Given the description of an element on the screen output the (x, y) to click on. 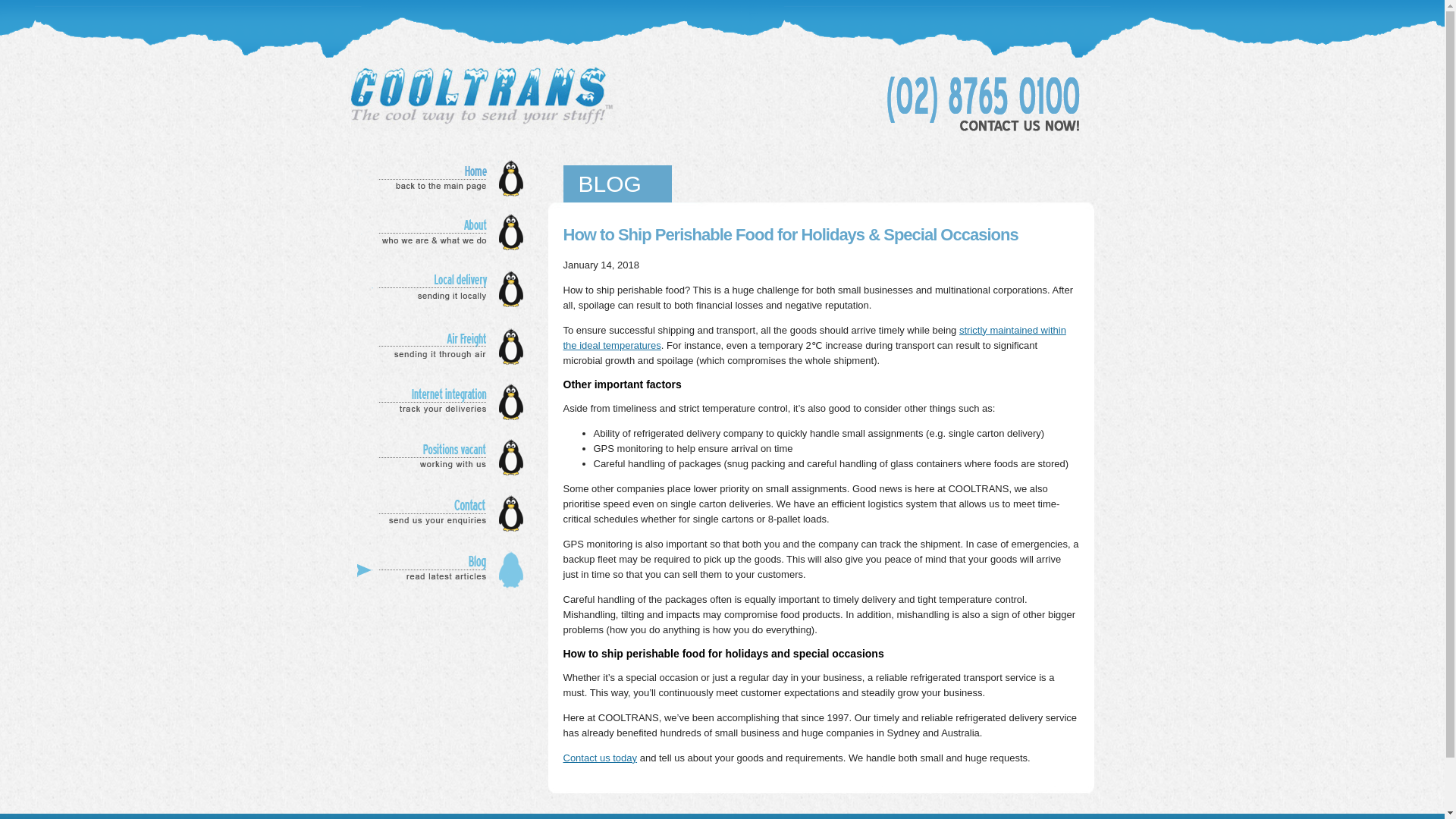
About (443, 232)
Contact (443, 513)
strictly maintained within the ideal temperatures (813, 337)
Local Delivery (443, 290)
Internet Integration (443, 401)
Air Freight (443, 345)
Blog (443, 569)
Home (443, 178)
Positions Vacant (443, 457)
Contact us today (599, 757)
